Given the description of an element on the screen output the (x, y) to click on. 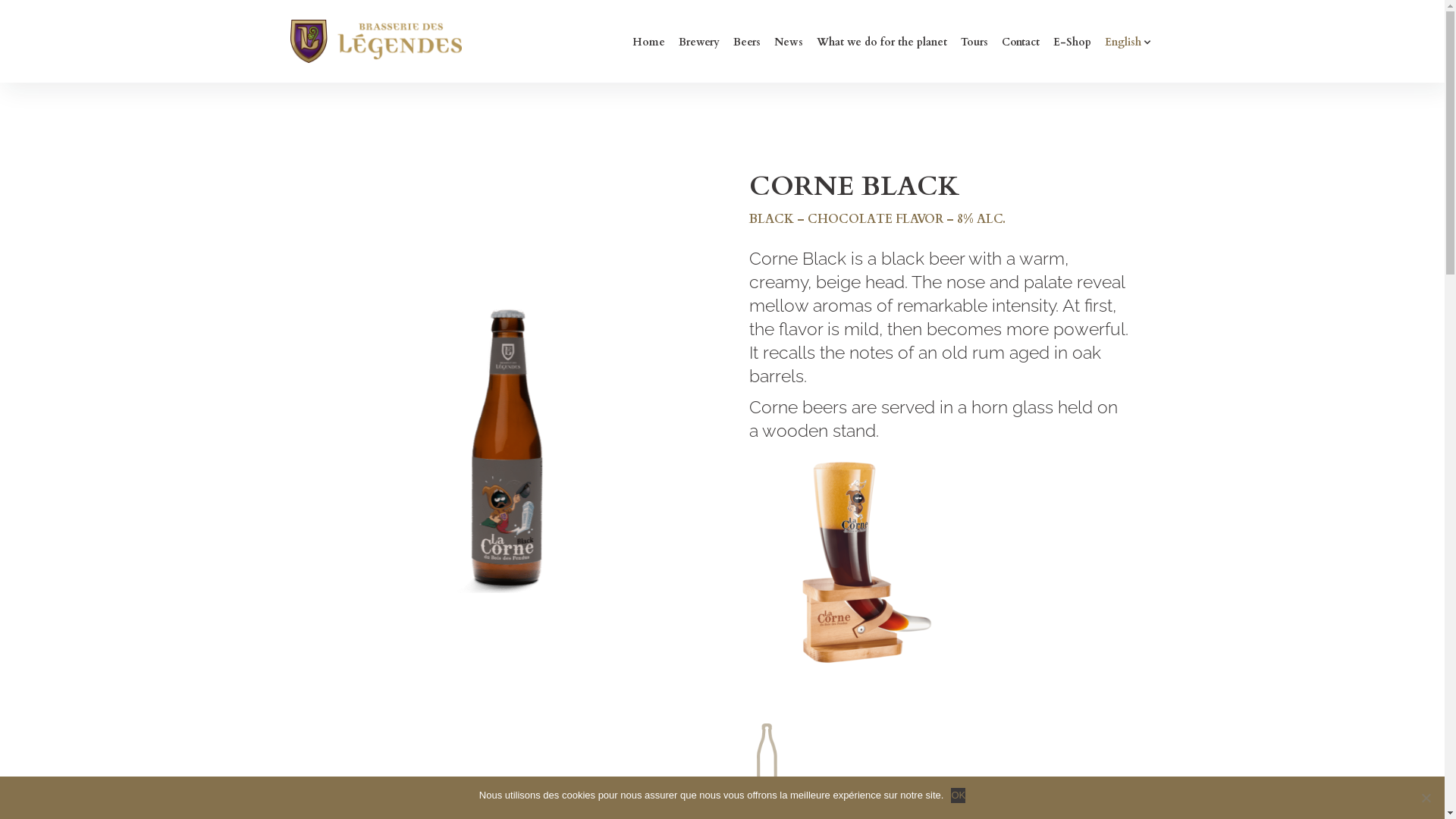
Tours Element type: text (973, 41)
English Element type: text (1126, 41)
No Element type: hover (1425, 797)
What we do for the planet Element type: text (880, 41)
Home Element type: text (648, 41)
Beers Element type: text (745, 41)
E-Shop Element type: text (1071, 41)
Brewery Element type: text (697, 41)
bdl-icone-contenant-33 Element type: hover (796, 755)
Contact Element type: text (1019, 41)
News Element type: text (787, 41)
OK Element type: text (957, 795)
